Given the description of an element on the screen output the (x, y) to click on. 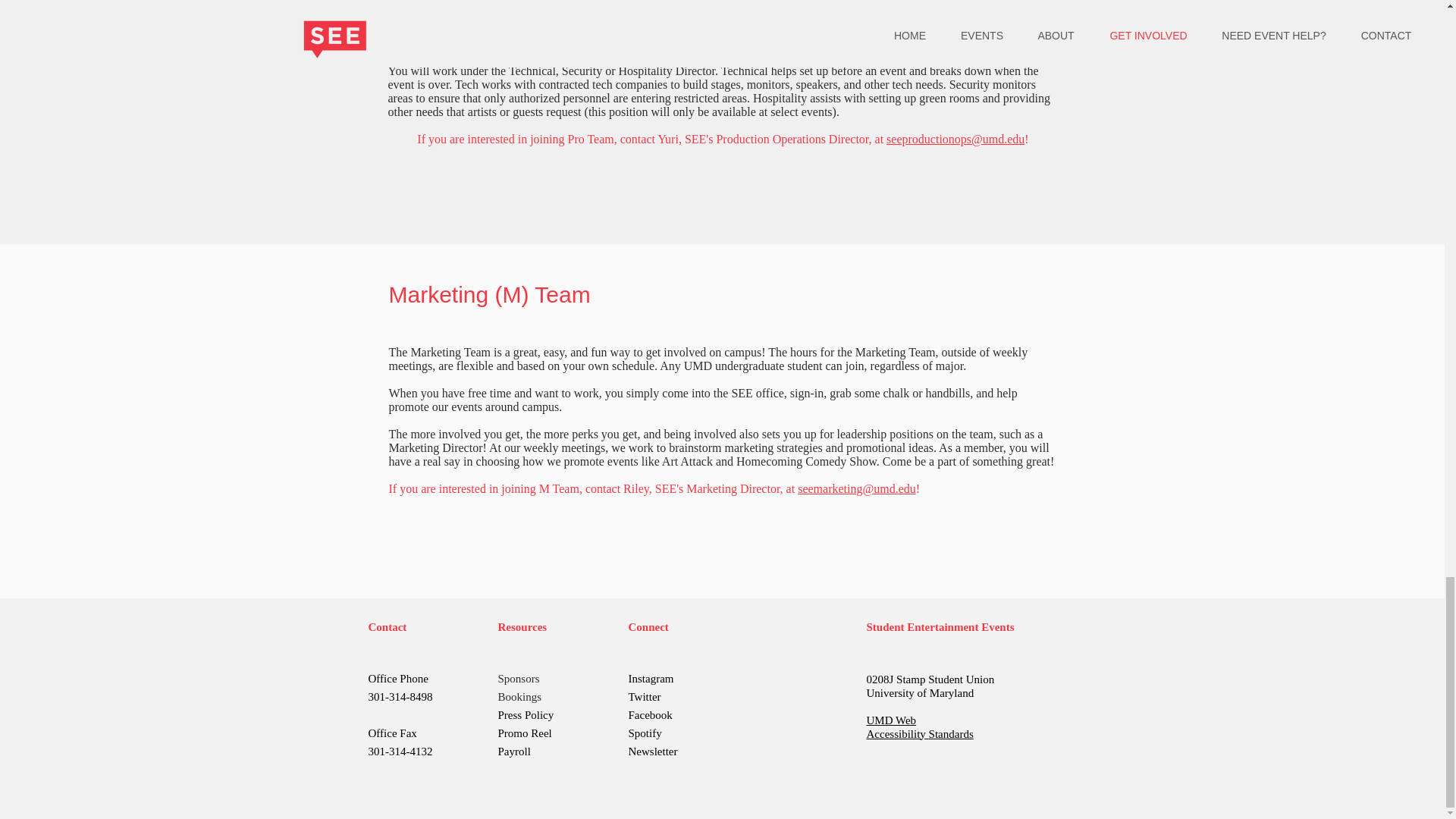
Payroll (513, 751)
Press Policy (525, 715)
Sponsors (517, 678)
Instagram (649, 678)
Bookings (519, 696)
Promo Reel (524, 733)
Twitter (644, 696)
